Given the description of an element on the screen output the (x, y) to click on. 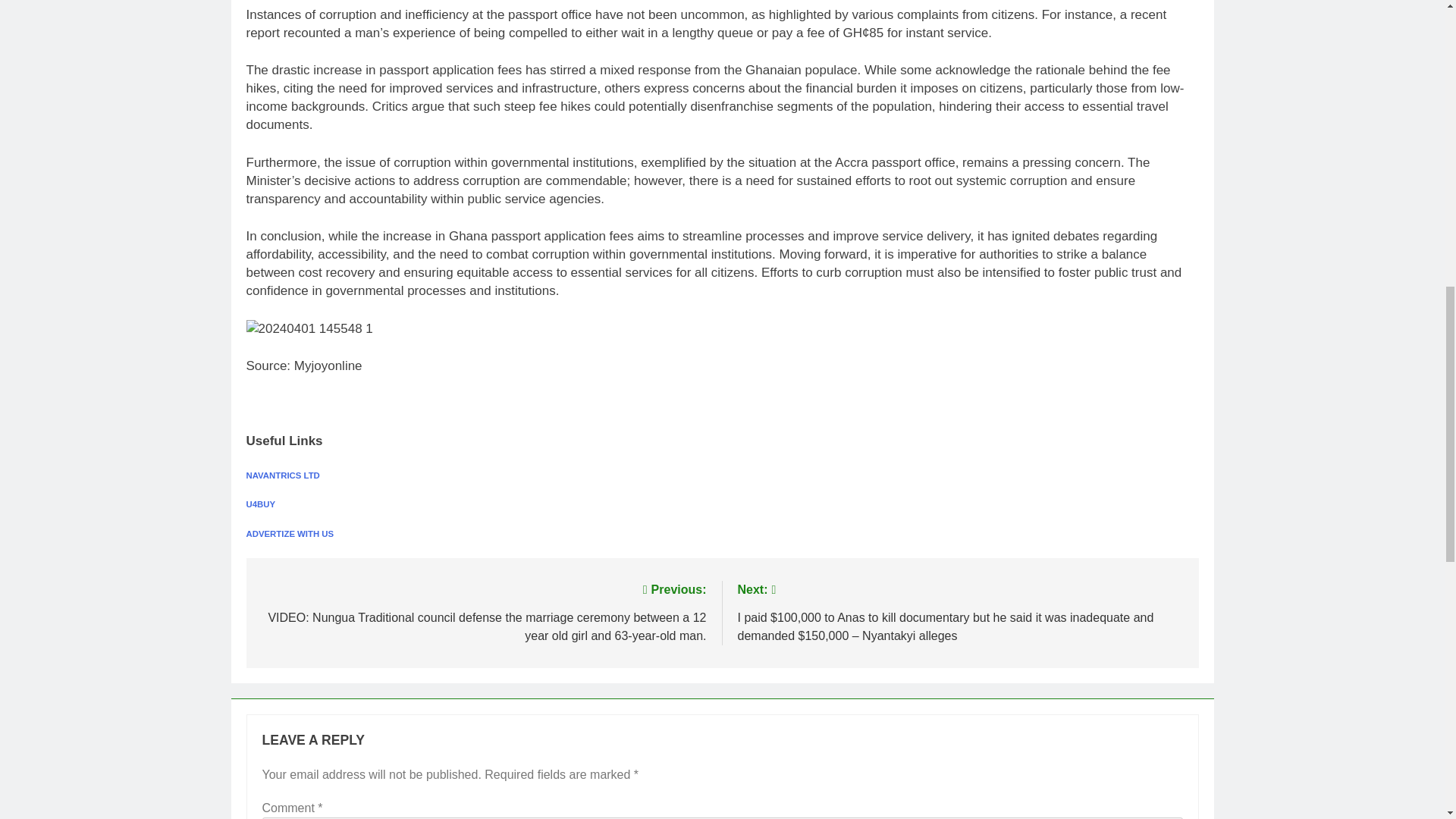
ADVERTIZE WITH US (289, 533)
NAVANTRICS LTD (282, 474)
U4BUY (260, 503)
